Given the description of an element on the screen output the (x, y) to click on. 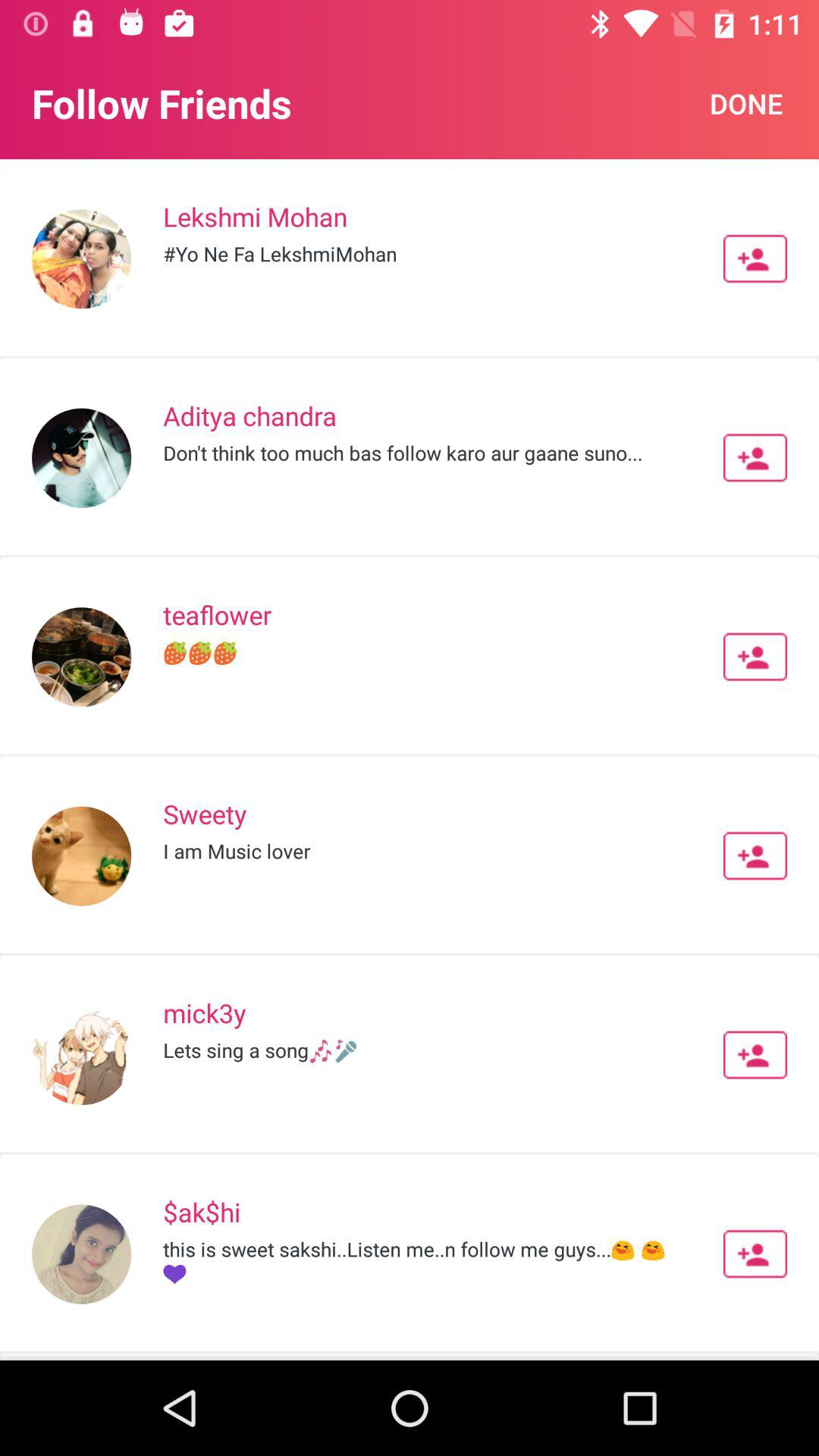
send friend request (755, 1054)
